Given the description of an element on the screen output the (x, y) to click on. 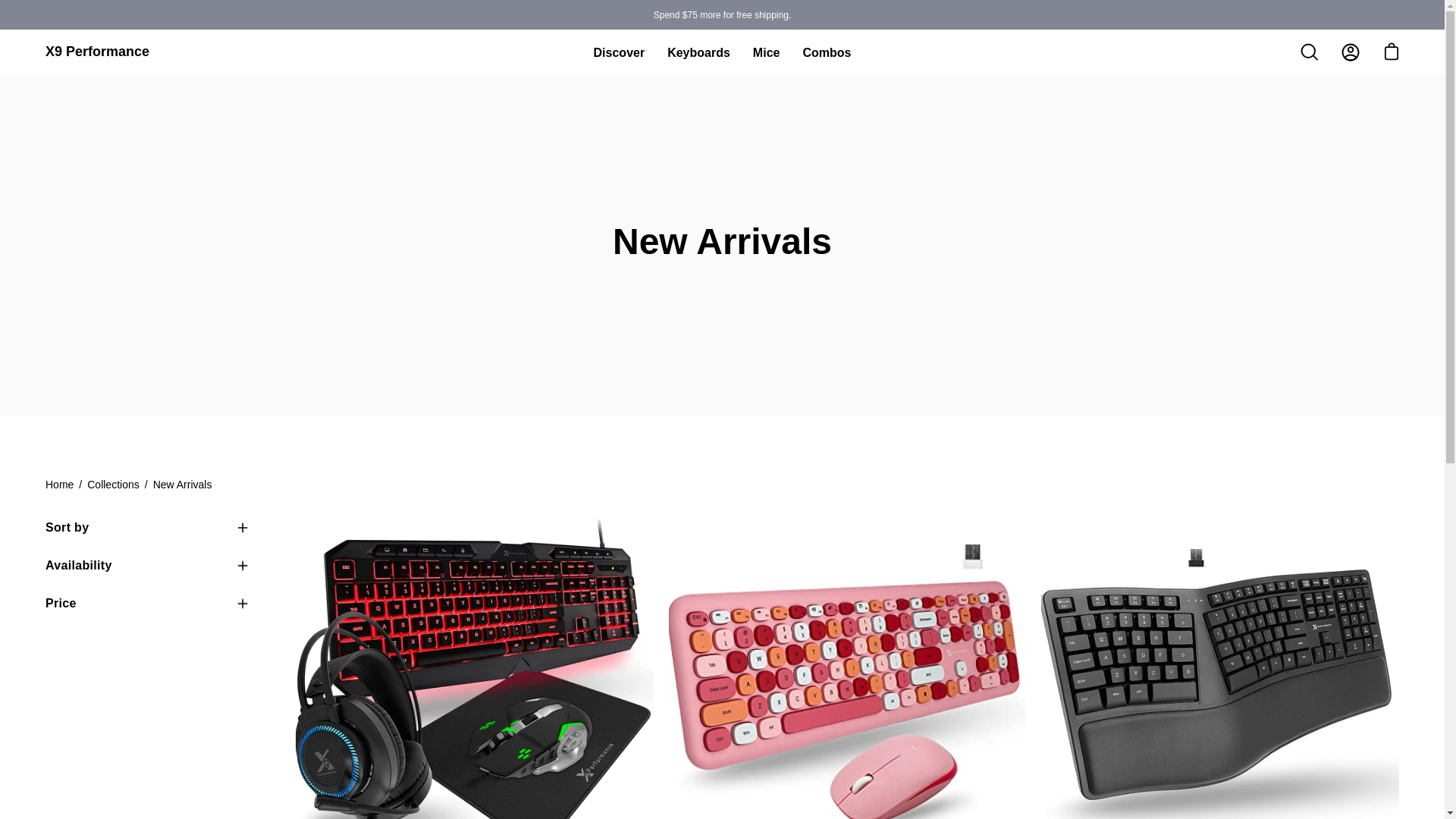
Open cart (1390, 52)
Discover (619, 52)
Keyboards (698, 52)
X9 Performance (97, 51)
Combos (825, 52)
Go back to Home page (59, 484)
Open search bar (1309, 52)
My Account (1350, 52)
Mice (766, 52)
